Given the description of an element on the screen output the (x, y) to click on. 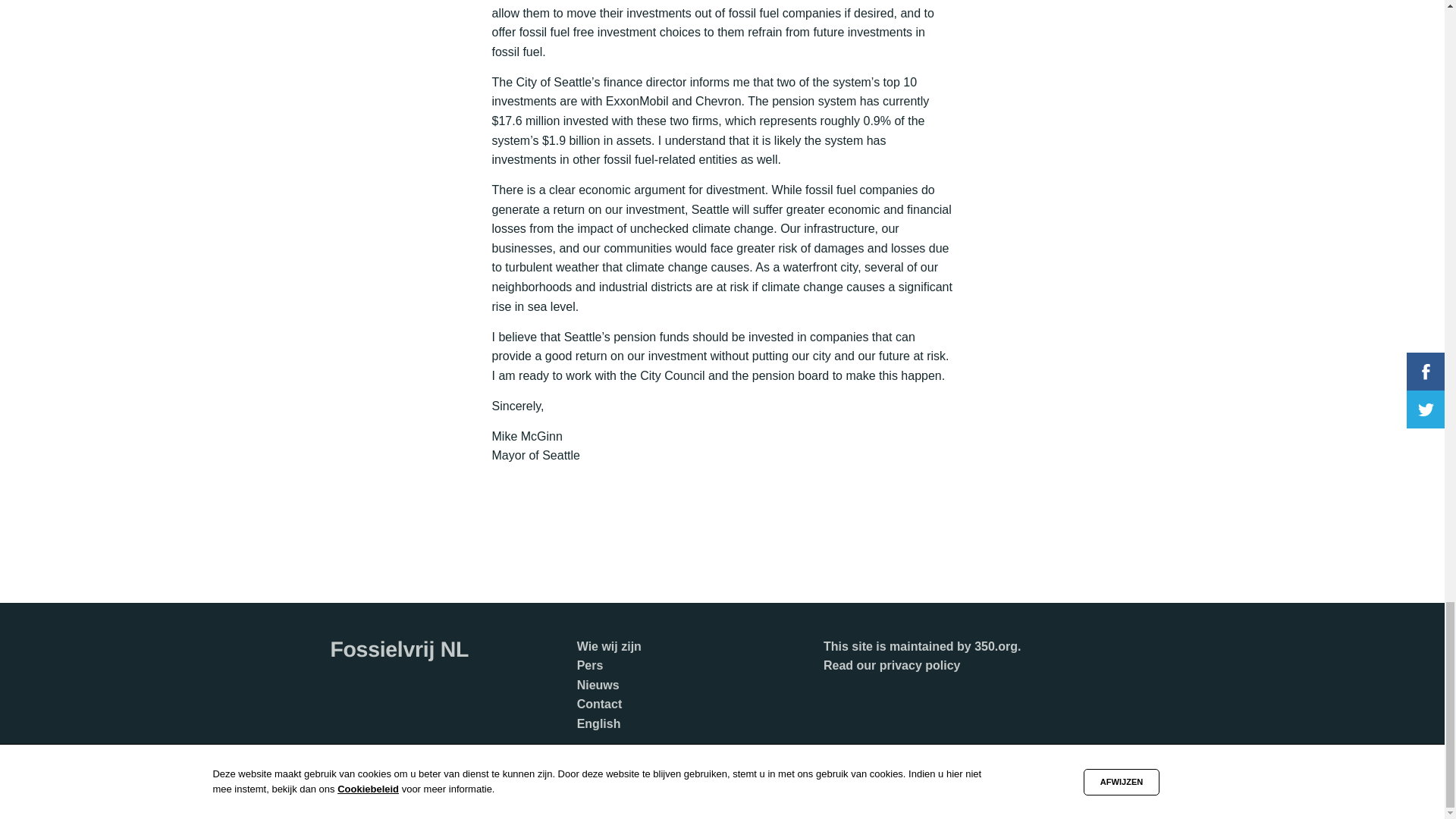
This site is maintained by 350.org. Read our privacy policy (923, 655)
Wie wij zijn (609, 645)
Fossielvrij NL (399, 649)
Pers (590, 665)
English (598, 723)
Contact (599, 703)
Doneren (601, 762)
Nieuws (598, 684)
